Given the description of an element on the screen output the (x, y) to click on. 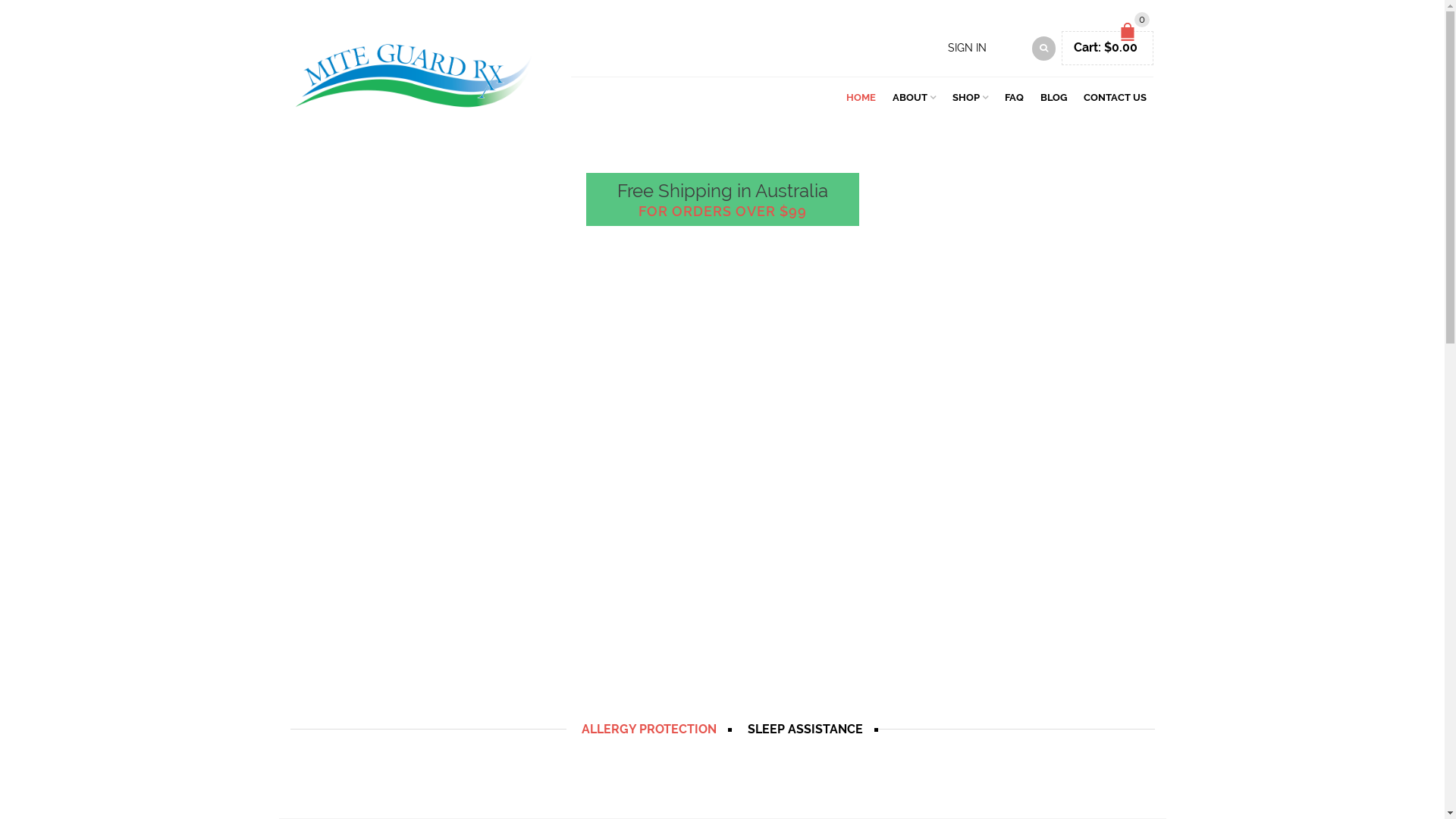
BLOG Element type: text (1053, 96)
FAQ Element type: text (1013, 96)
SLEEP ASSISTANCE Element type: text (805, 729)
ABOUT Element type: text (913, 96)
CONTACT US Element type: text (1114, 96)
Login Element type: text (947, 259)
SIGN IN Element type: text (966, 47)
HOME Element type: text (860, 96)
SHOP Element type: text (969, 96)
ALLERGY PROTECTION Element type: text (648, 729)
